Given the description of an element on the screen output the (x, y) to click on. 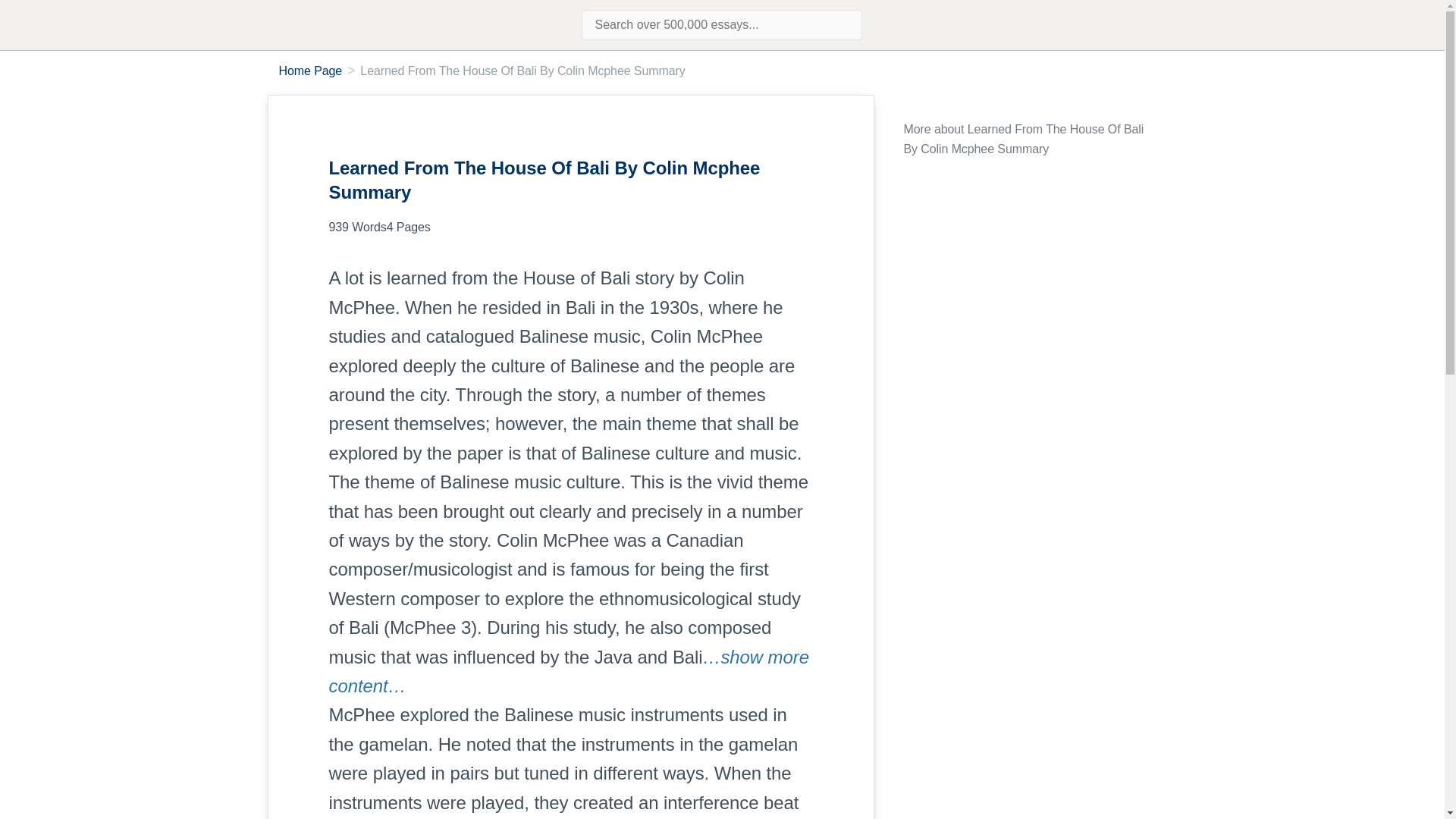
Home Page (310, 70)
